Given the description of an element on the screen output the (x, y) to click on. 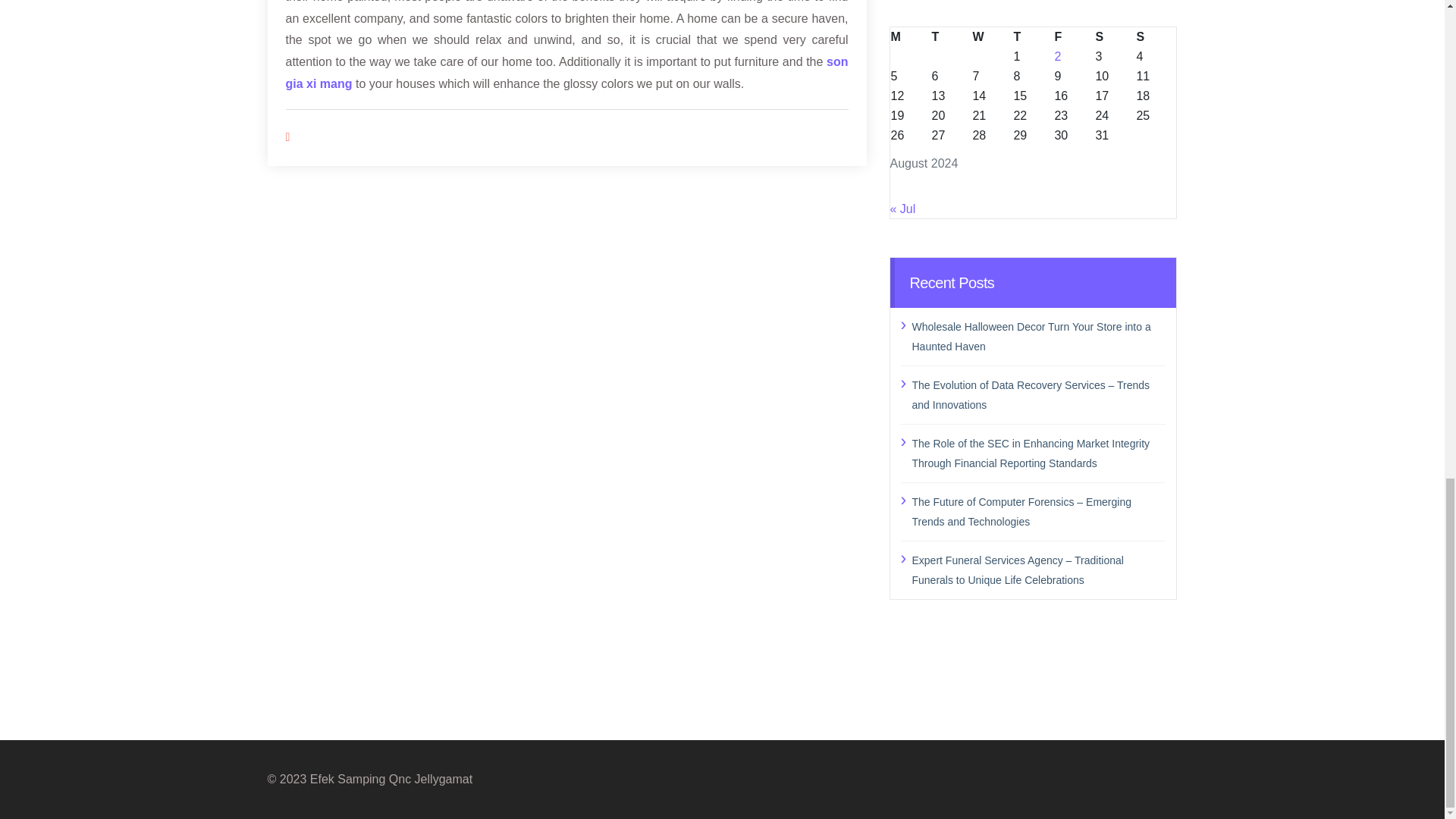
Wednesday (991, 35)
son gia xi mang (566, 72)
Sunday (1155, 35)
Thursday (1031, 35)
Monday (910, 35)
Tuesday (950, 35)
Saturday (1114, 35)
Friday (1073, 35)
